Given the description of an element on the screen output the (x, y) to click on. 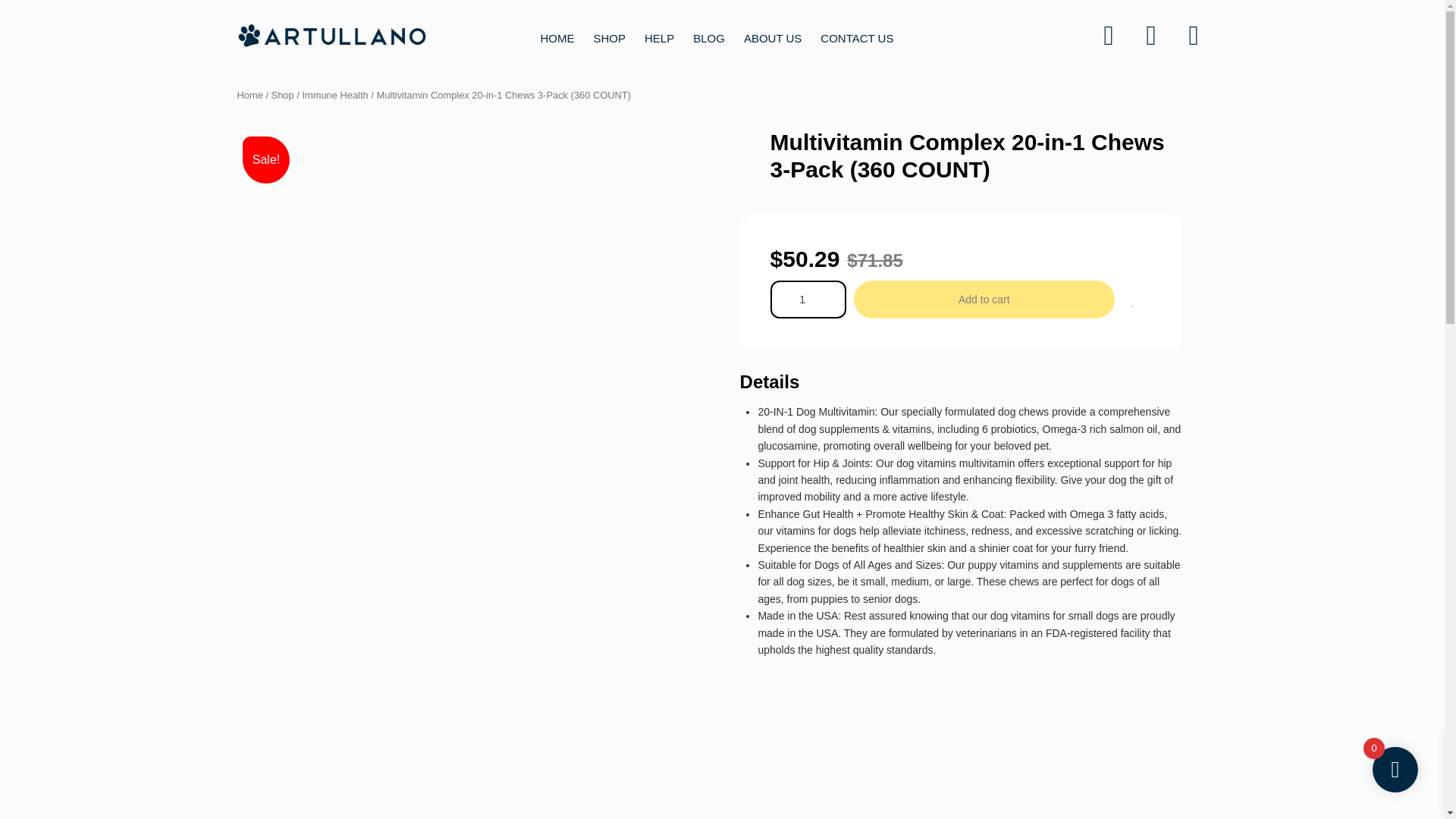
ABOUT US (773, 37)
HELP (659, 37)
SHOP (609, 37)
BLOG (709, 37)
HOME (556, 37)
CONTACT US (857, 37)
1 (807, 299)
